Given the description of an element on the screen output the (x, y) to click on. 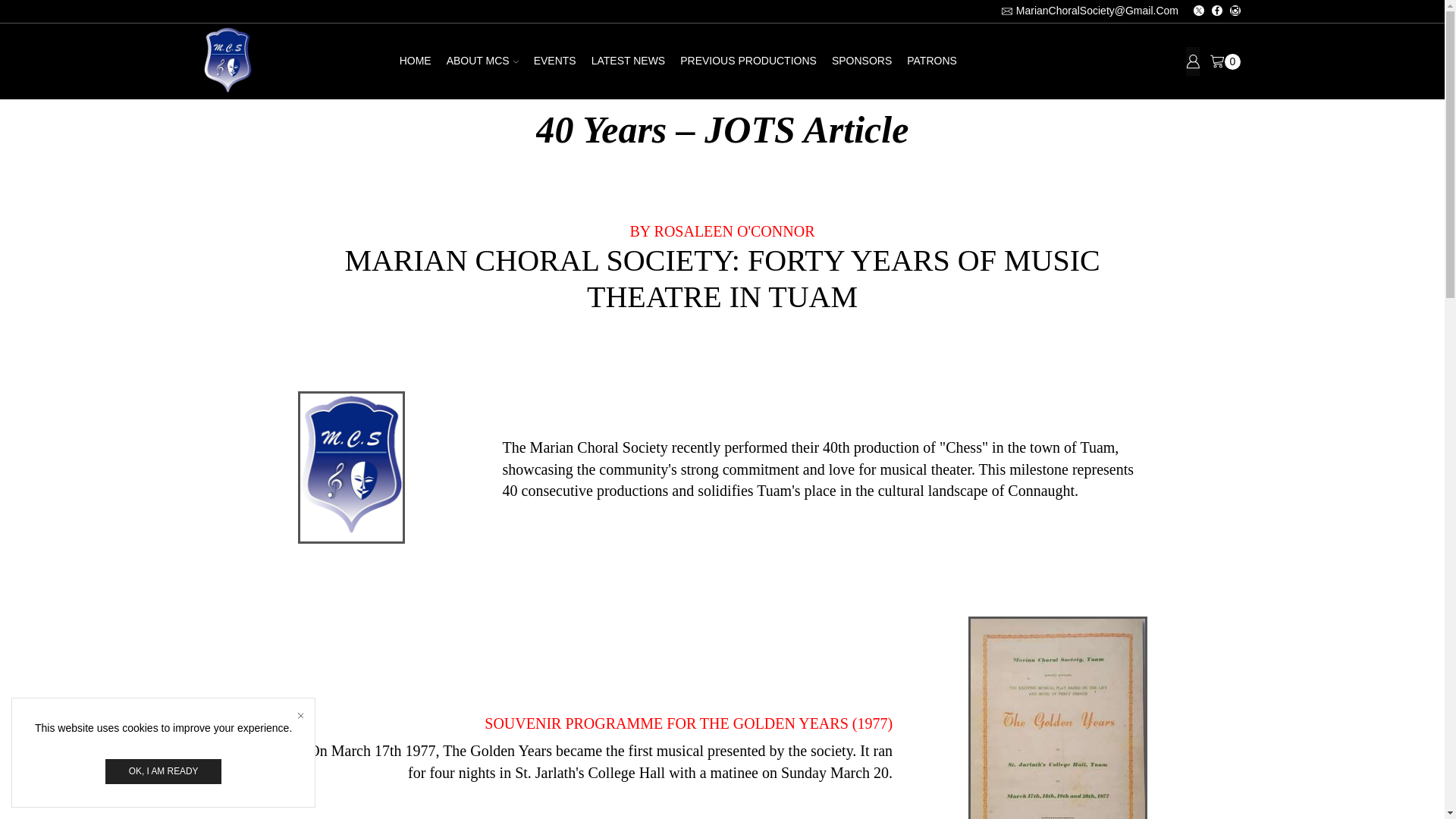
0 (1224, 60)
ABOUT MCS (482, 61)
LATEST NEWS (627, 61)
PREVIOUS PRODUCTIONS (748, 61)
SPONSORS (861, 61)
HOME (415, 61)
EVENTS (554, 61)
PATRONS (931, 61)
